Given the description of an element on the screen output the (x, y) to click on. 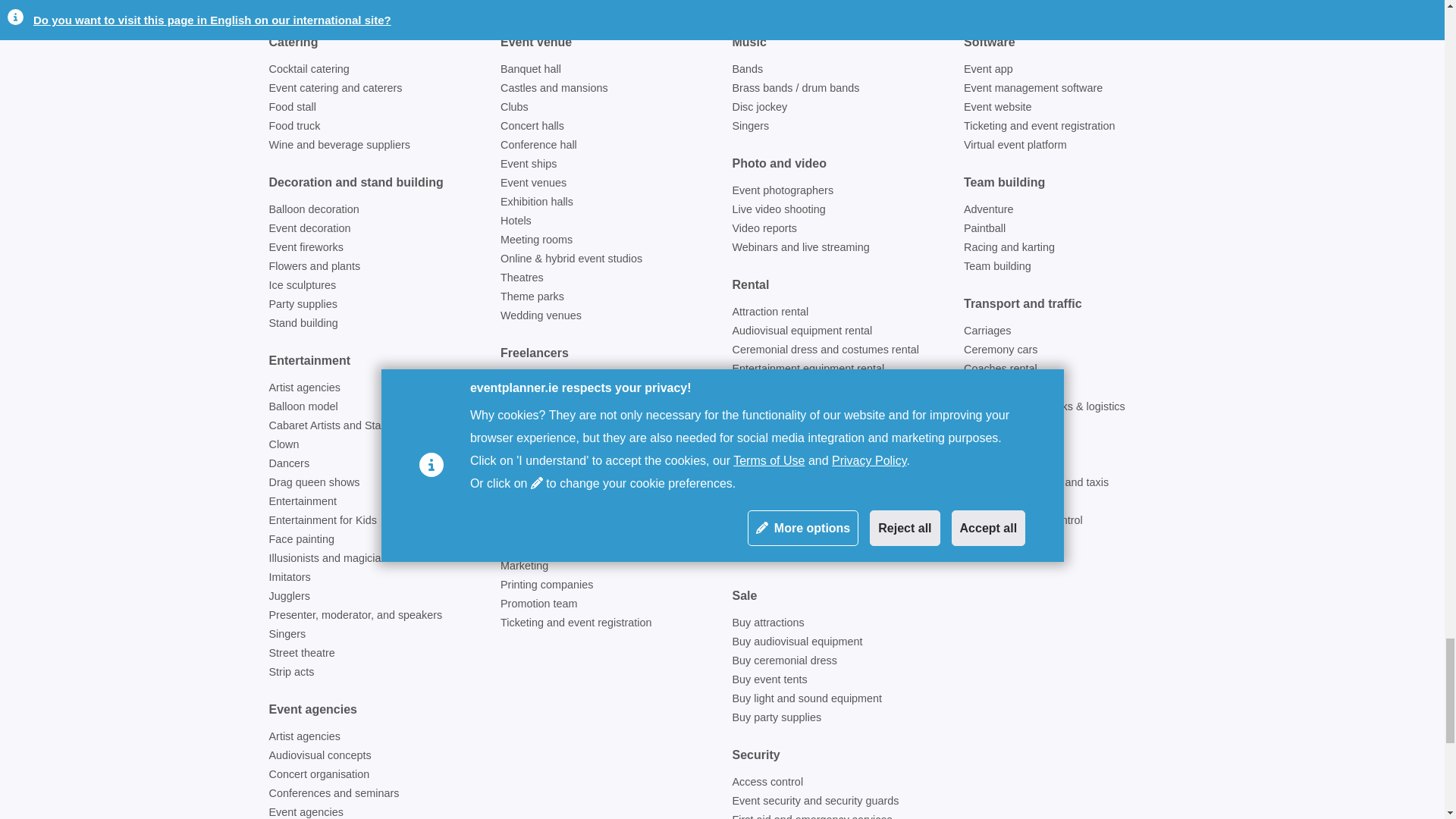
Event Catering (334, 87)
Wine and beverages (338, 144)
Ice sculptures (301, 285)
Cocktail Catering (308, 69)
Party decoration (301, 304)
balloon decoration (312, 209)
Food Truck (293, 125)
Food stall (291, 106)
Event Fireworks (304, 246)
Event Decoration (308, 227)
Flowers and Plants (313, 265)
